Given the description of an element on the screen output the (x, y) to click on. 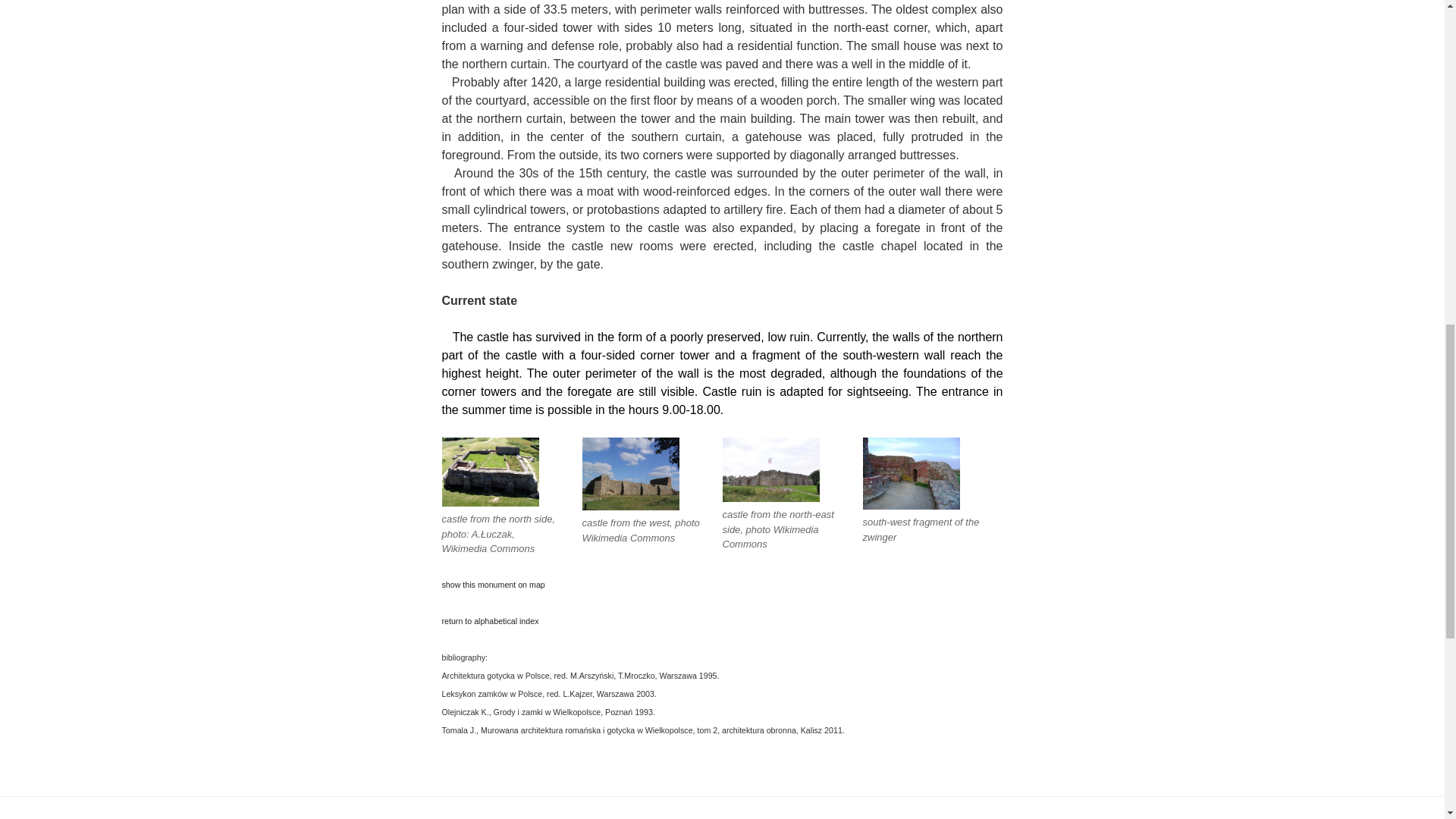
return to alphabetical index (489, 619)
show this monument on map (492, 583)
